Given the description of an element on the screen output the (x, y) to click on. 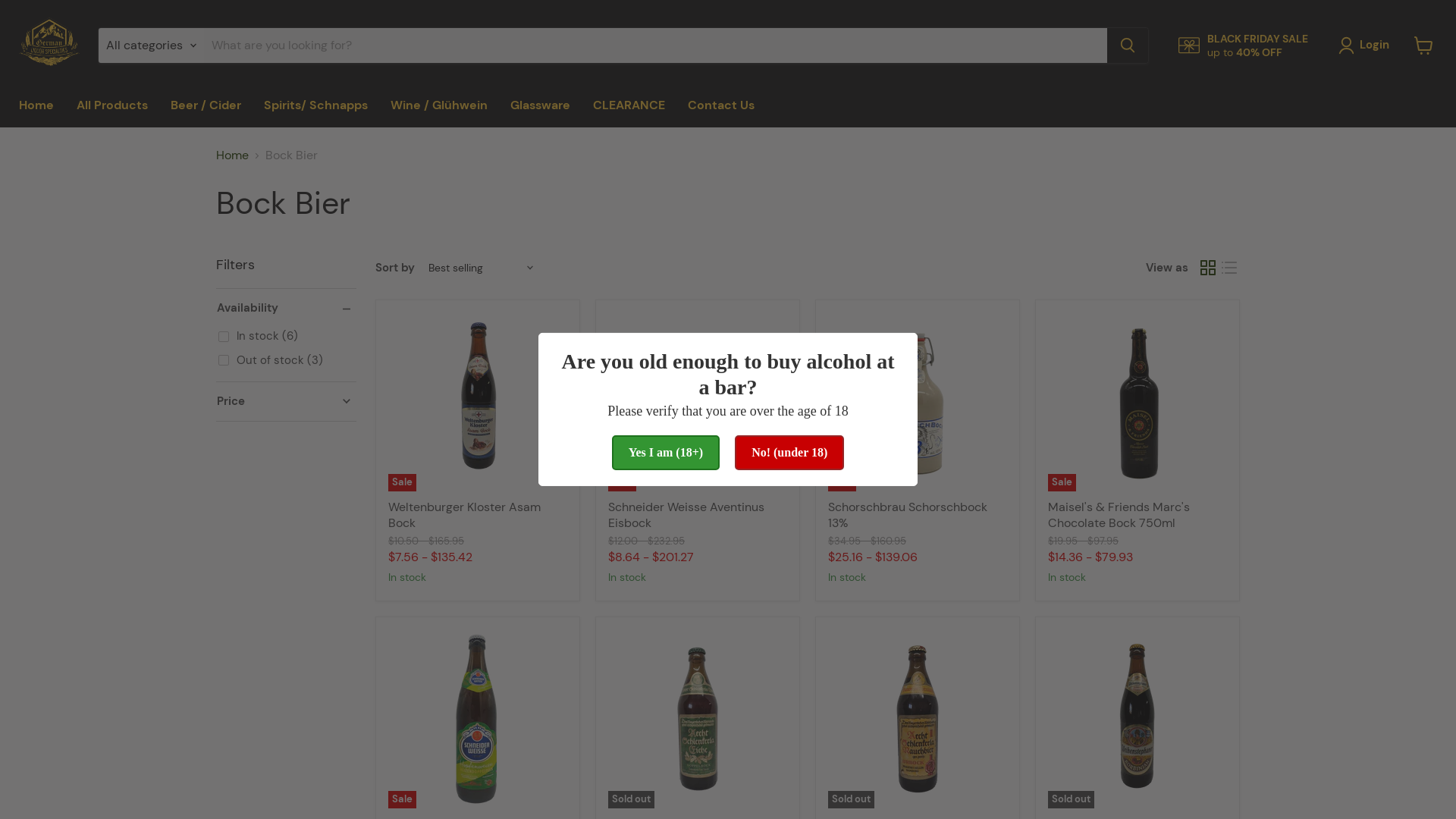
Sale Element type: text (1137, 401)
View cart Element type: text (1423, 45)
Sold out Element type: text (697, 718)
Sale Element type: text (477, 401)
In stock (6) Element type: text (258, 336)
Glassware Element type: text (539, 105)
Schorschbrau Schorschbock 13% Element type: text (907, 514)
Login Element type: text (1366, 45)
Beer / Cider Element type: text (205, 105)
Sale Element type: text (697, 401)
Schneider Weisse Aventinus Eisbock Element type: text (686, 514)
All Products Element type: text (112, 105)
Maisel's & Friends Marc's Chocolate Bock 750ml Element type: text (1118, 514)
No! (under 18) Element type: text (789, 452)
Sale Element type: text (477, 718)
Yes I am (18+) Element type: text (665, 452)
Weltenburger Kloster Asam Bock Element type: text (464, 514)
Sold out Element type: text (1137, 718)
Spirits/ Schnapps Element type: text (315, 105)
Contact Us Element type: text (720, 105)
Home Element type: text (36, 105)
Home Element type: text (232, 155)
CLEARANCE Element type: text (628, 105)
Price Element type: text (286, 401)
Sale Element type: text (917, 401)
Out of stock (3) Element type: text (270, 360)
Sold out Element type: text (917, 718)
Availability Element type: text (286, 308)
